Given the description of an element on the screen output the (x, y) to click on. 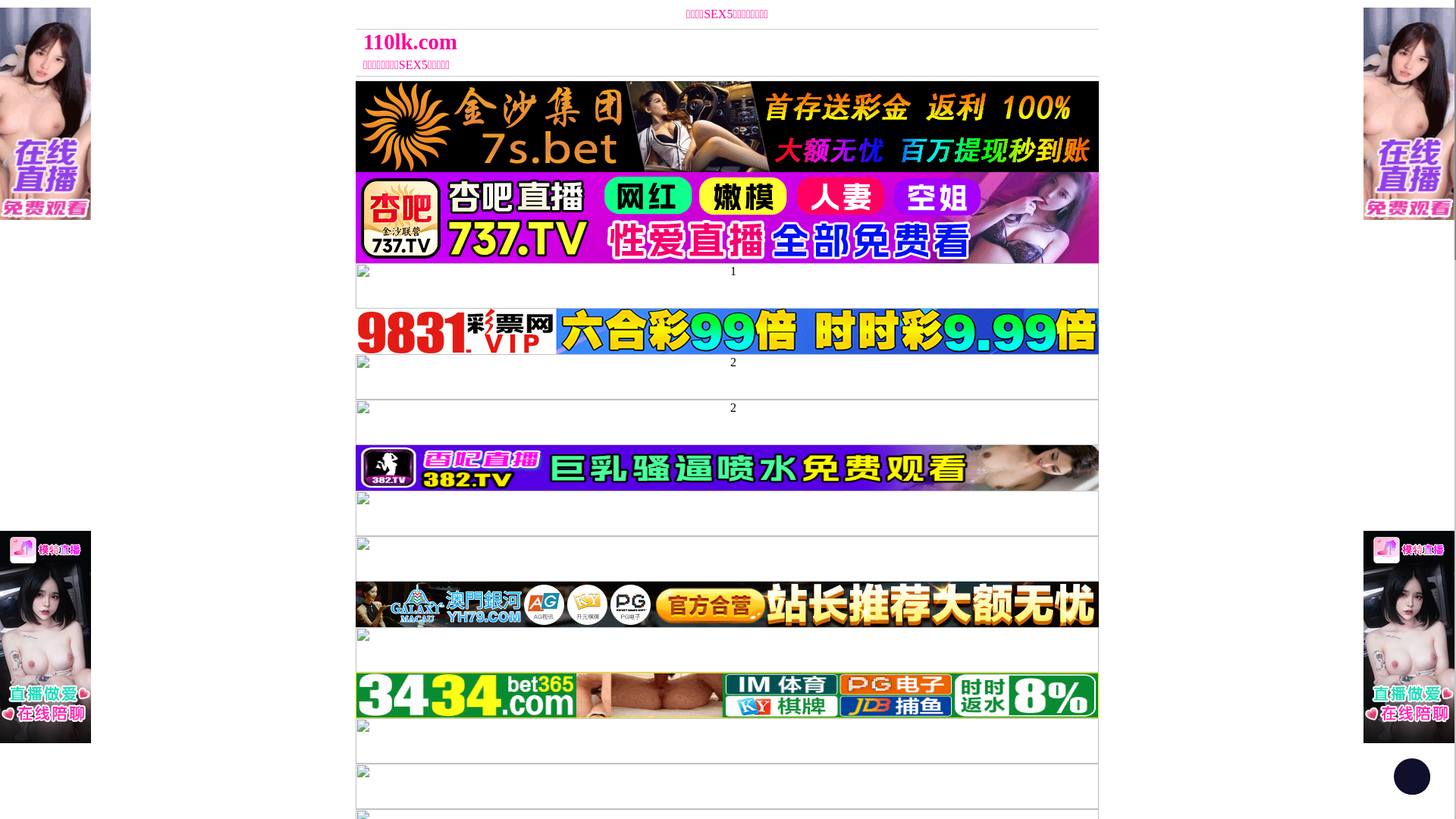
110lk.com Element type: text (634, 41)
